Given the description of an element on the screen output the (x, y) to click on. 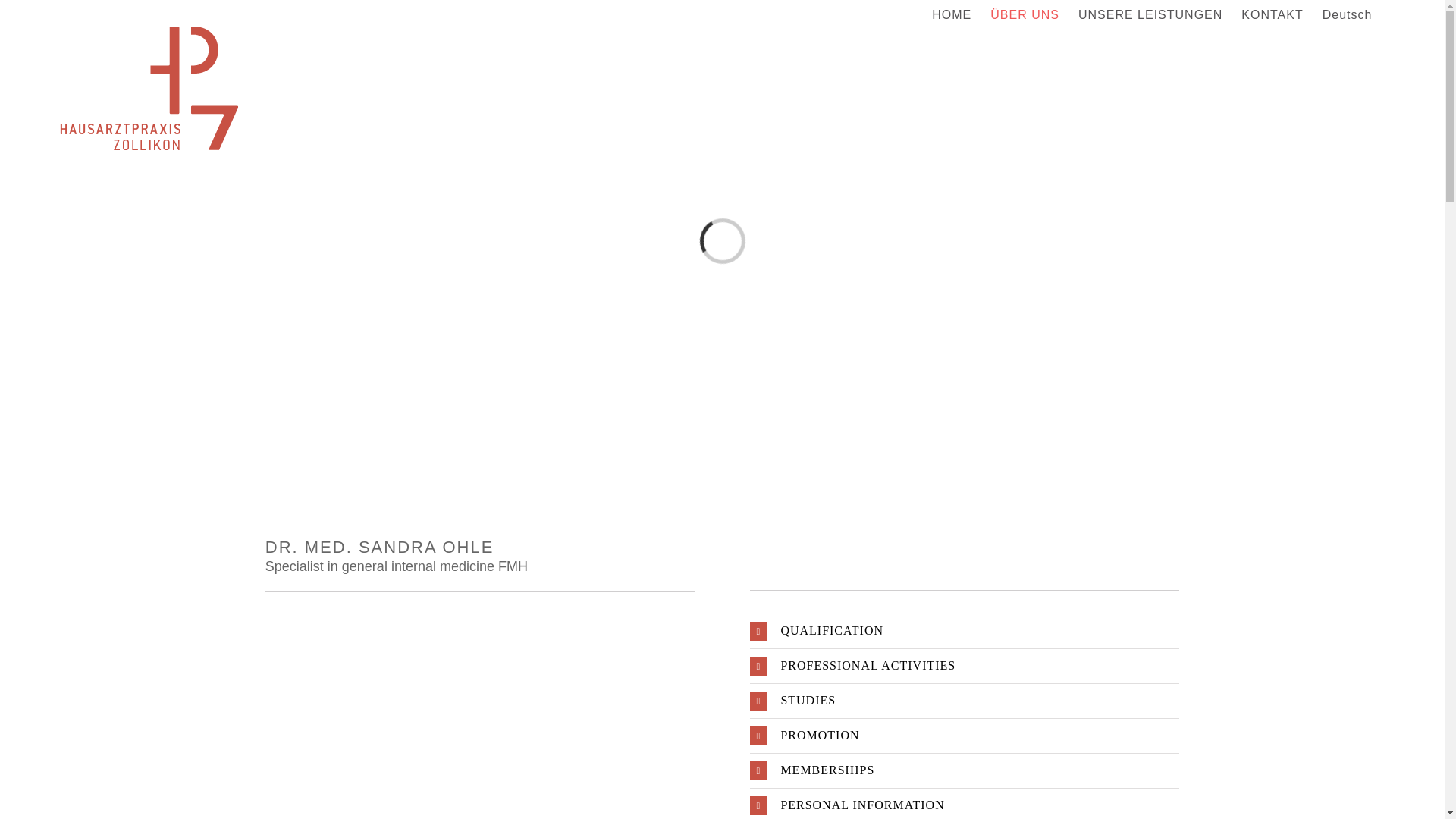
Deutsch Element type: text (1347, 15)
UNSERE LEISTUNGEN Element type: text (1150, 15)
PROFESSIONAL ACTIVITIES Element type: text (964, 666)
PROMOTION Element type: text (964, 735)
KONTAKT Element type: text (1271, 15)
QUALIFICATION Element type: text (964, 631)
MEMBERSHIPS Element type: text (964, 770)
STUDIES Element type: text (964, 701)
HOME Element type: text (951, 15)
